Given the description of an element on the screen output the (x, y) to click on. 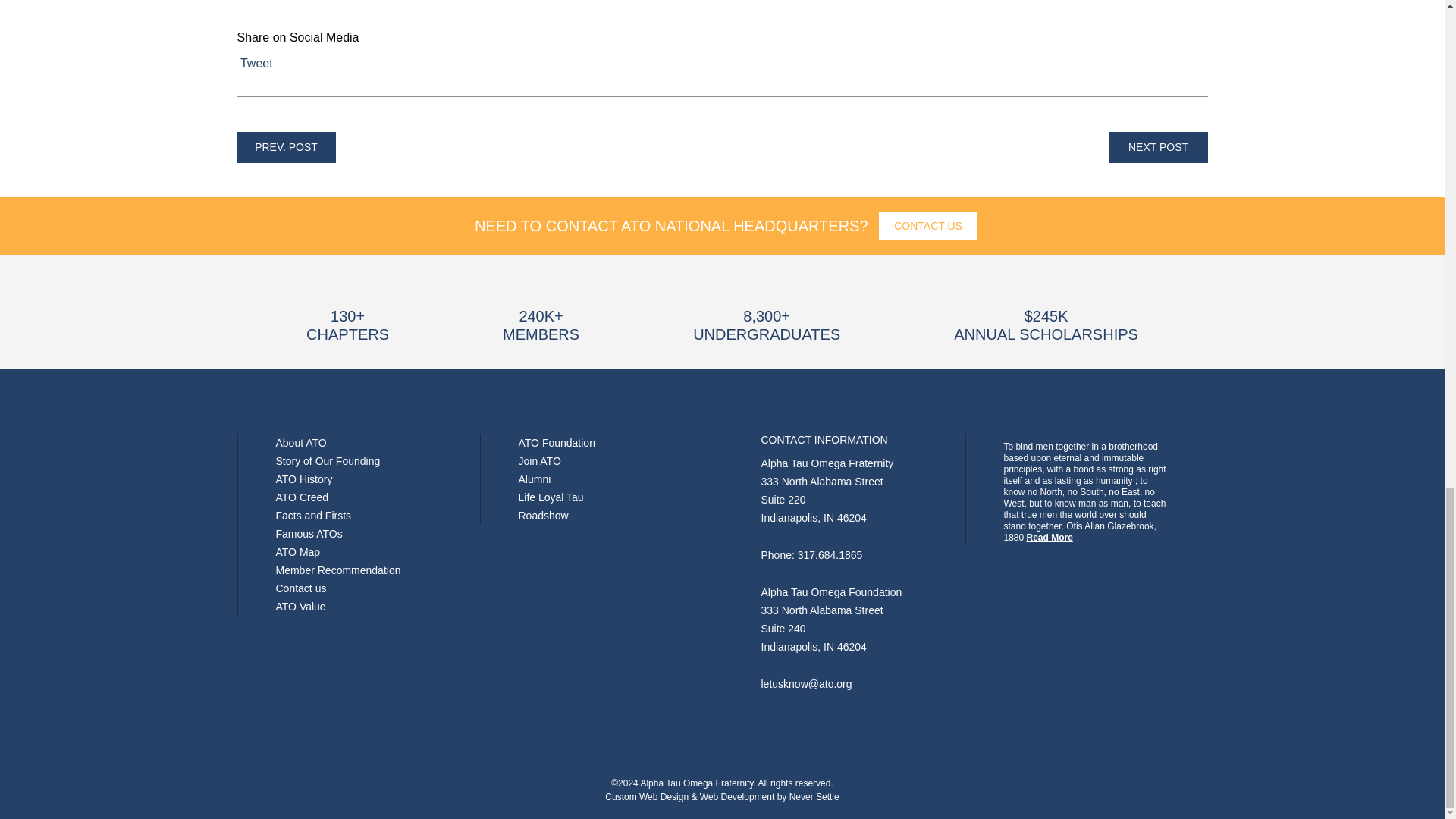
Story of Our Founding (328, 460)
About ATO (301, 442)
Contact us (301, 588)
PREV. POST (284, 146)
ATO Value (301, 606)
ATO Creed (302, 497)
NEXT POST (1157, 146)
ATO History (304, 479)
Alumni (534, 479)
CONTACT US (927, 225)
